Given the description of an element on the screen output the (x, y) to click on. 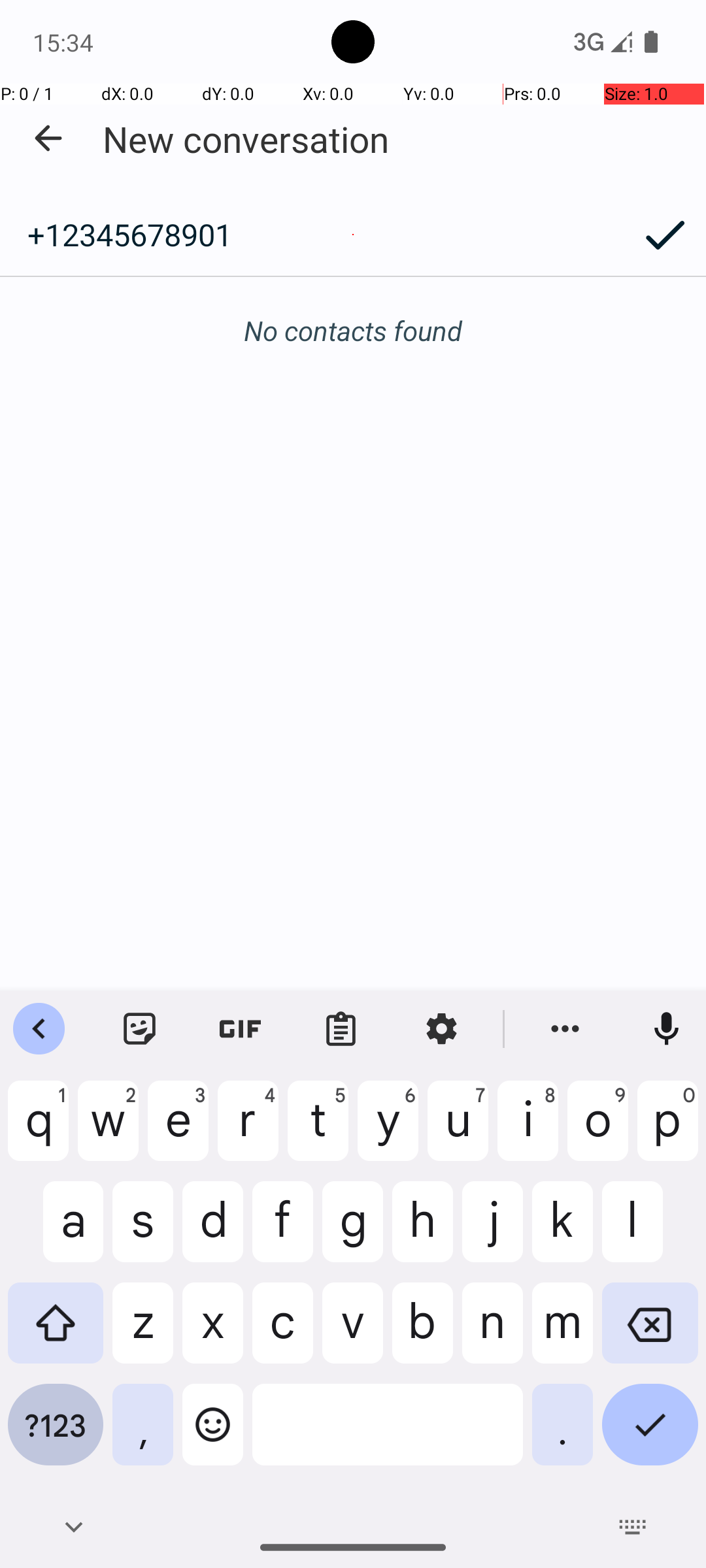
New conversation Element type: android.widget.TextView (245, 138)
+12345678901 Element type: android.widget.EditText (311, 234)
No contacts found Element type: android.widget.TextView (353, 329)
